Given the description of an element on the screen output the (x, y) to click on. 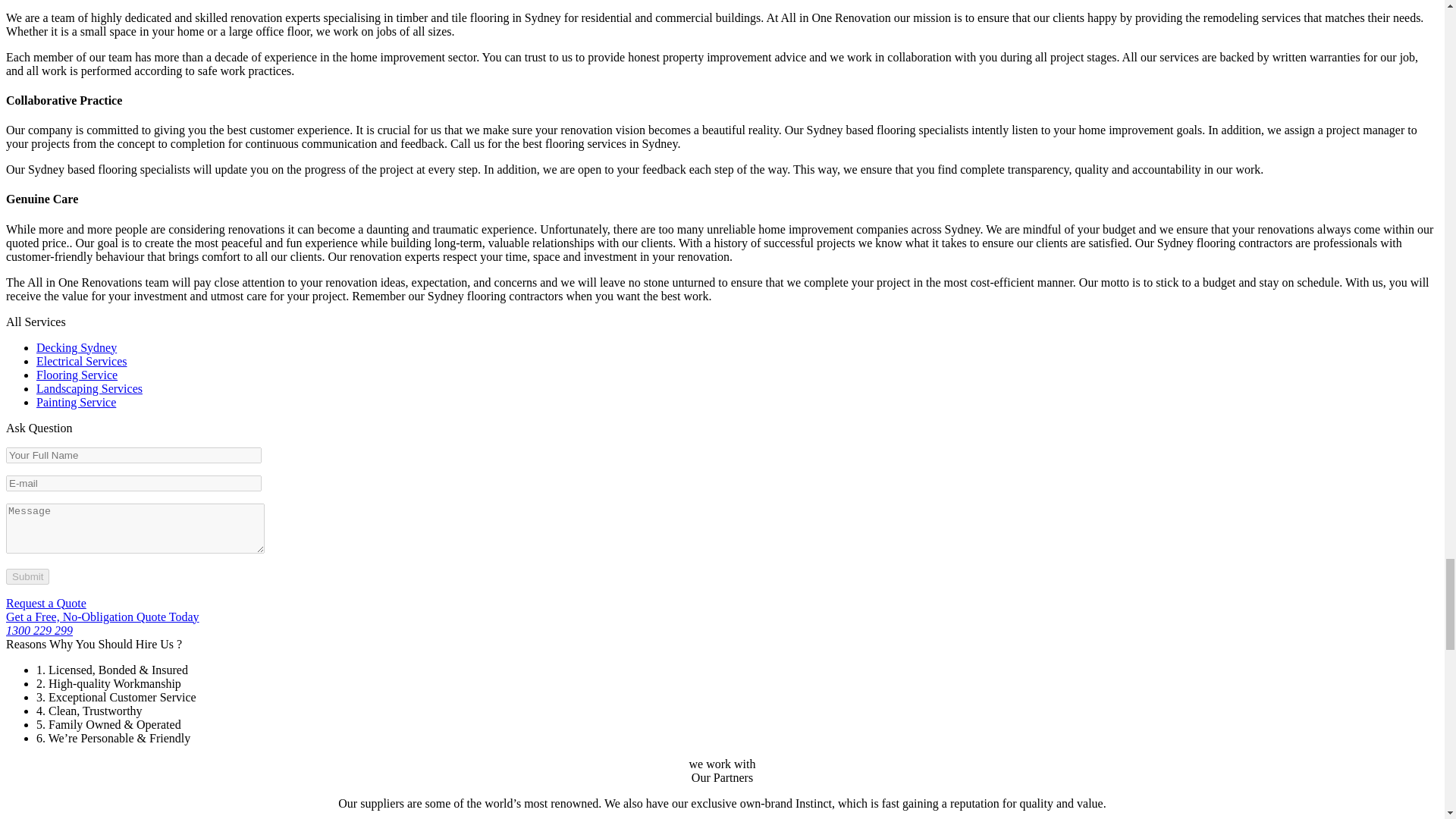
Submit (27, 576)
Landscaping Services (89, 388)
Electrical Services (82, 360)
Flooring Service (76, 374)
Painting Service (76, 401)
Submit (27, 576)
Decking Sydney (76, 347)
